Given the description of an element on the screen output the (x, y) to click on. 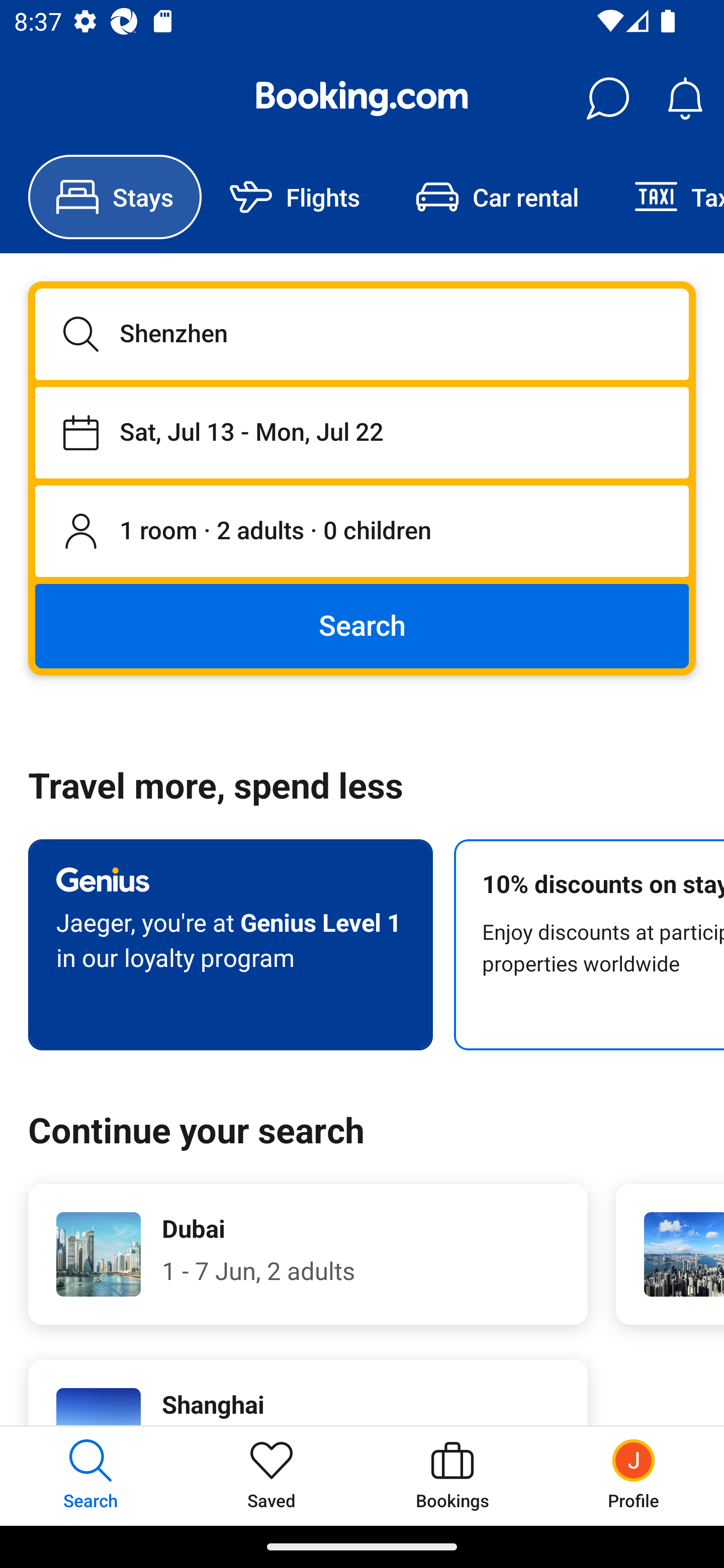
Messages (607, 98)
Notifications (685, 98)
Stays (114, 197)
Flights (294, 197)
Car rental (497, 197)
Taxi (665, 197)
Shenzhen (361, 333)
Staying from Sat, Jul 13 until Mon, Jul 22 (361, 432)
1 room, 2 adults, 0 children (361, 531)
Search (361, 625)
Dubai 1 - 7 Jun, 2 adults (307, 1253)
Saved (271, 1475)
Bookings (452, 1475)
Profile (633, 1475)
